Given the description of an element on the screen output the (x, y) to click on. 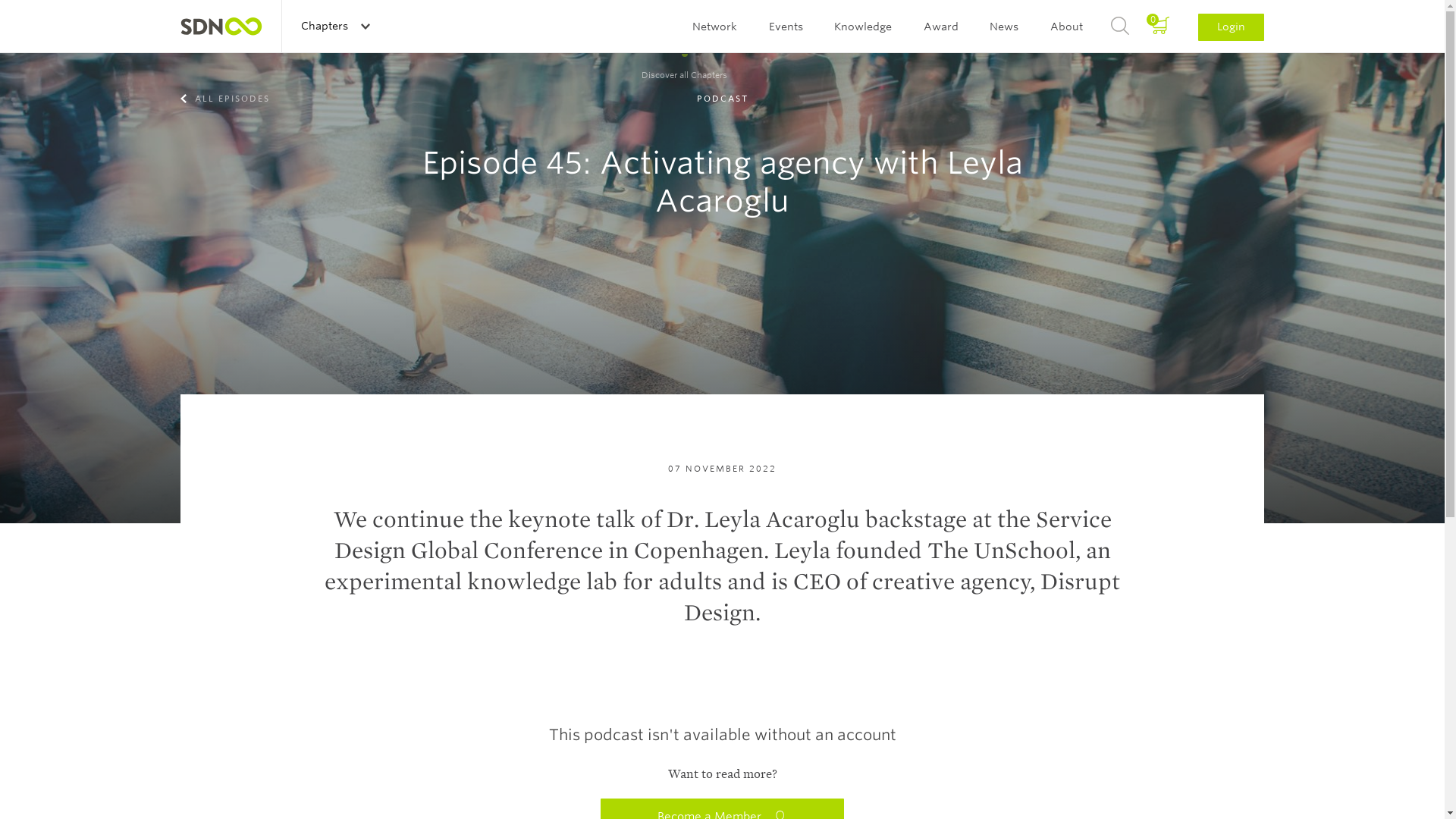
Chapters (334, 26)
